Given the description of an element on the screen output the (x, y) to click on. 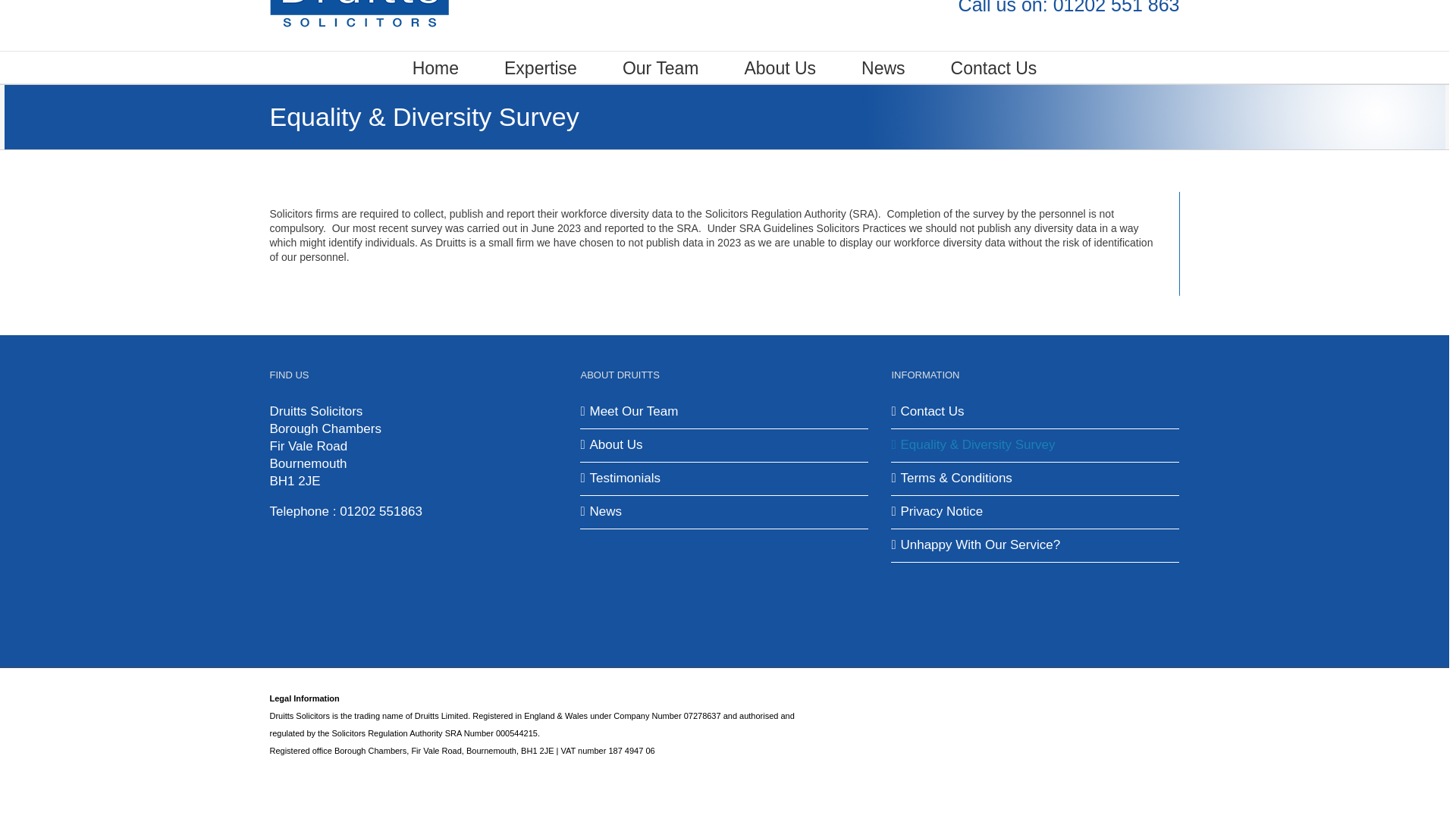
Meet Our Team (724, 411)
About Us (724, 445)
Contact Us (993, 67)
Expertise (539, 67)
Unhappy With Our Service? (1035, 545)
Contact Us (1035, 411)
Privacy Notice (1035, 511)
News (883, 67)
Our Team (660, 67)
Home (435, 67)
